Given the description of an element on the screen output the (x, y) to click on. 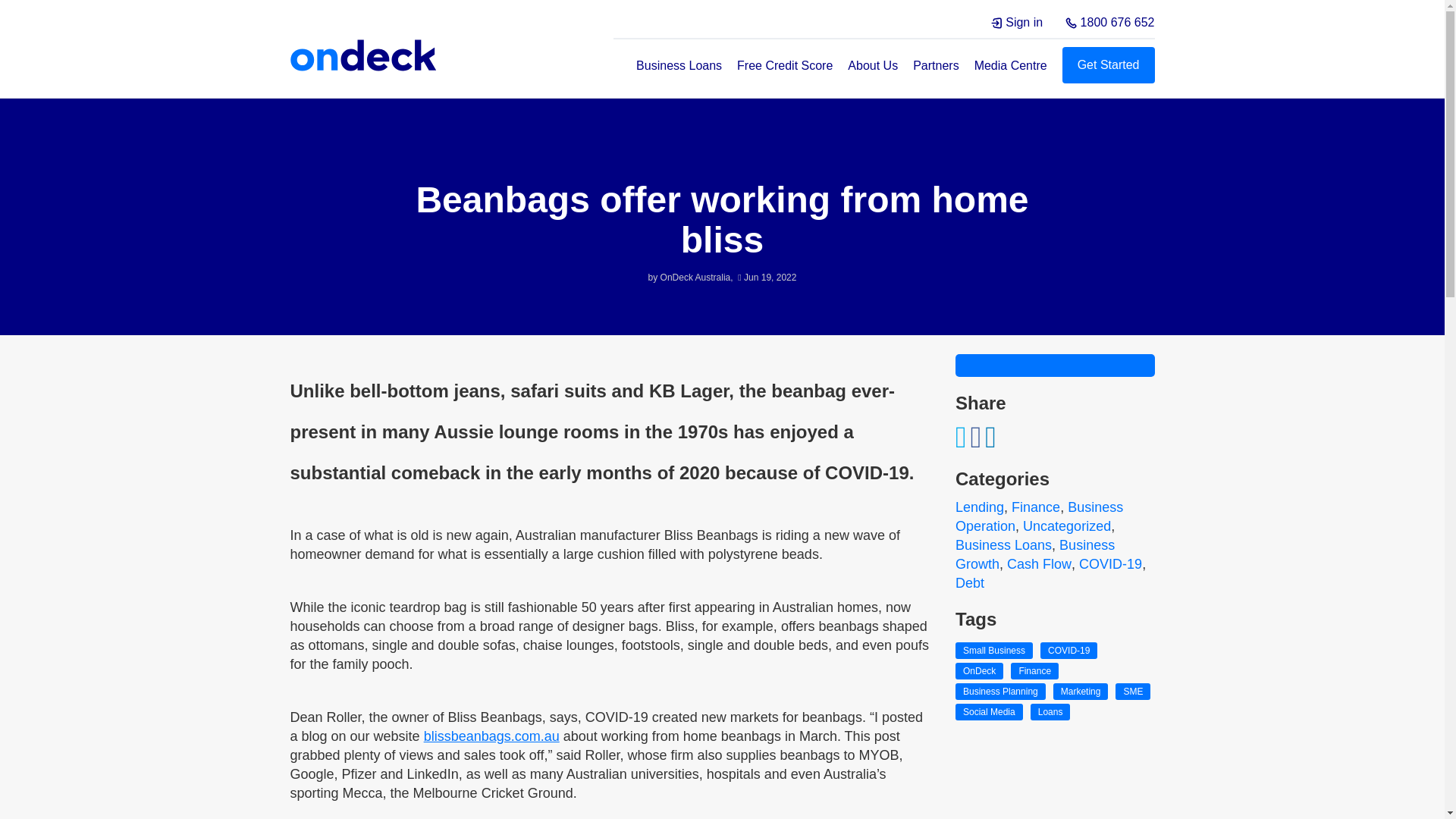
OnDeck home (362, 55)
Get Started (1108, 64)
blissbeanbags.com.au (491, 735)
Business Loans (679, 65)
Sign in (1016, 22)
Free Credit Score (784, 65)
OnDeck home (363, 56)
Partners (935, 65)
1800 676 652 (1109, 22)
Media Centre (1010, 65)
About Us (872, 65)
